Given the description of an element on the screen output the (x, y) to click on. 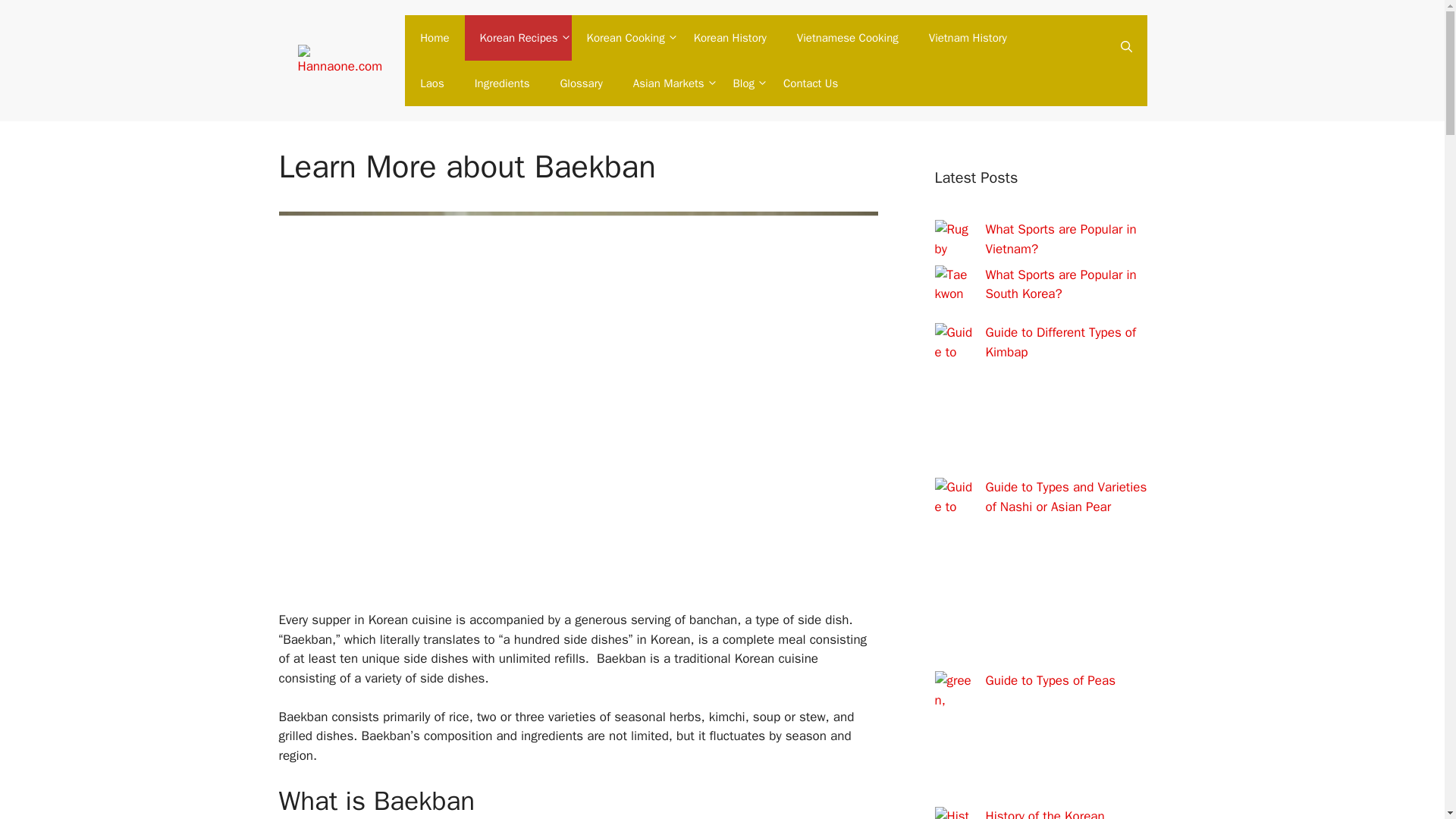
Home (434, 37)
Korean Recipes (518, 37)
